Given the description of an element on the screen output the (x, y) to click on. 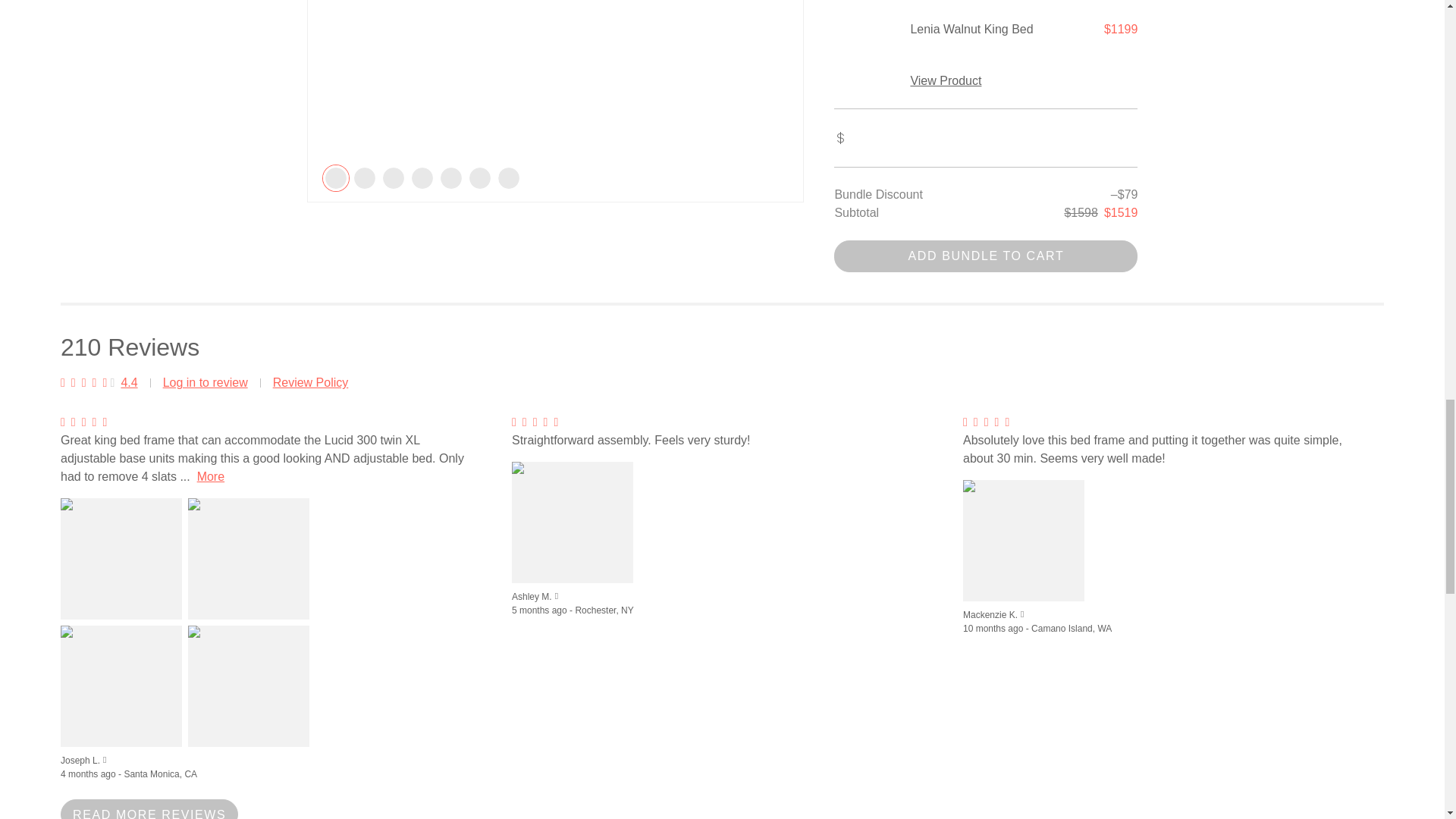
Our review policy (311, 382)
